Given the description of an element on the screen output the (x, y) to click on. 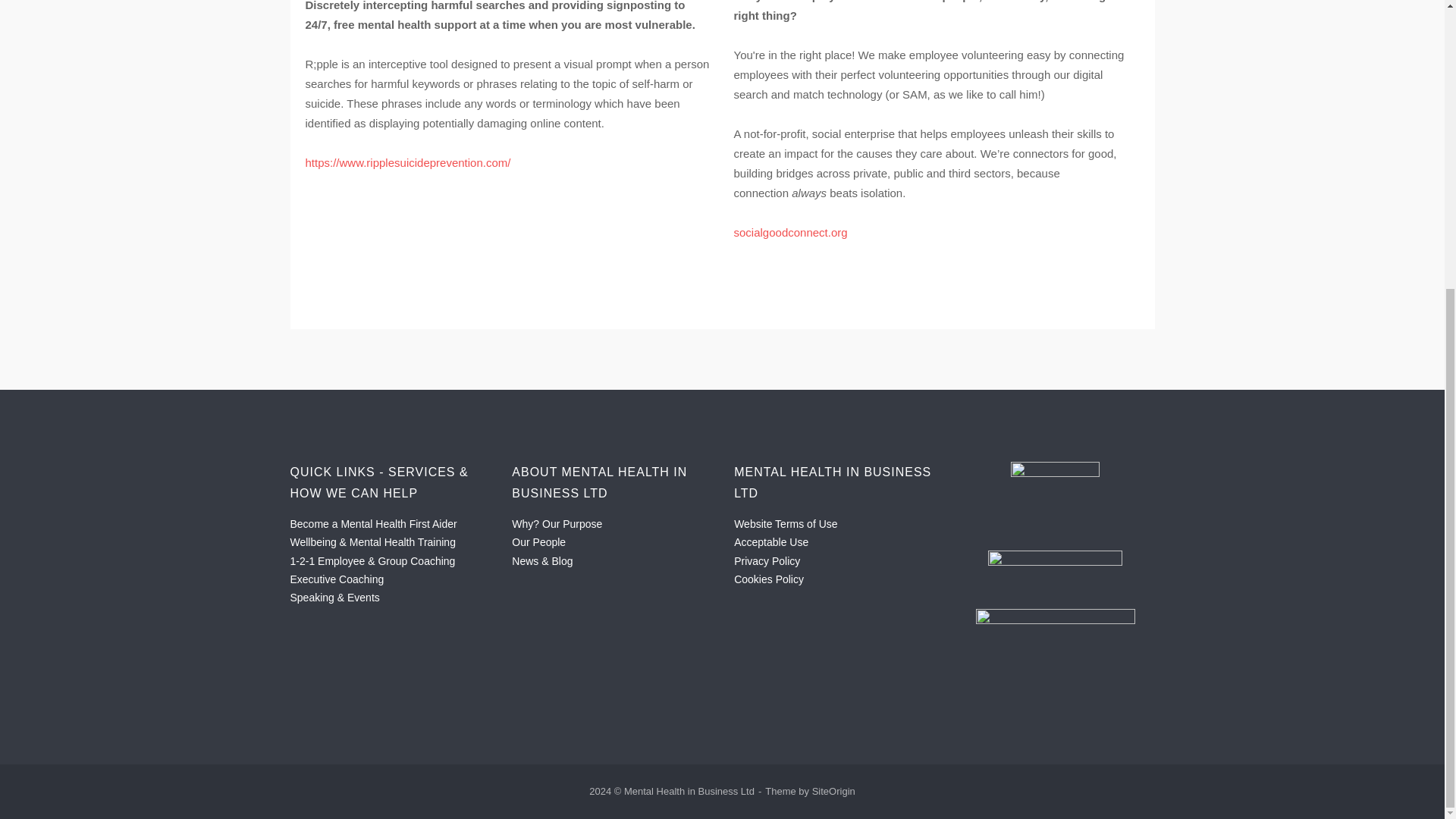
socialgoodconnect.org (790, 232)
Become a Mental Health First Aider (373, 523)
Executive Coaching (336, 579)
Why? Our Purpose (557, 523)
